Given the description of an element on the screen output the (x, y) to click on. 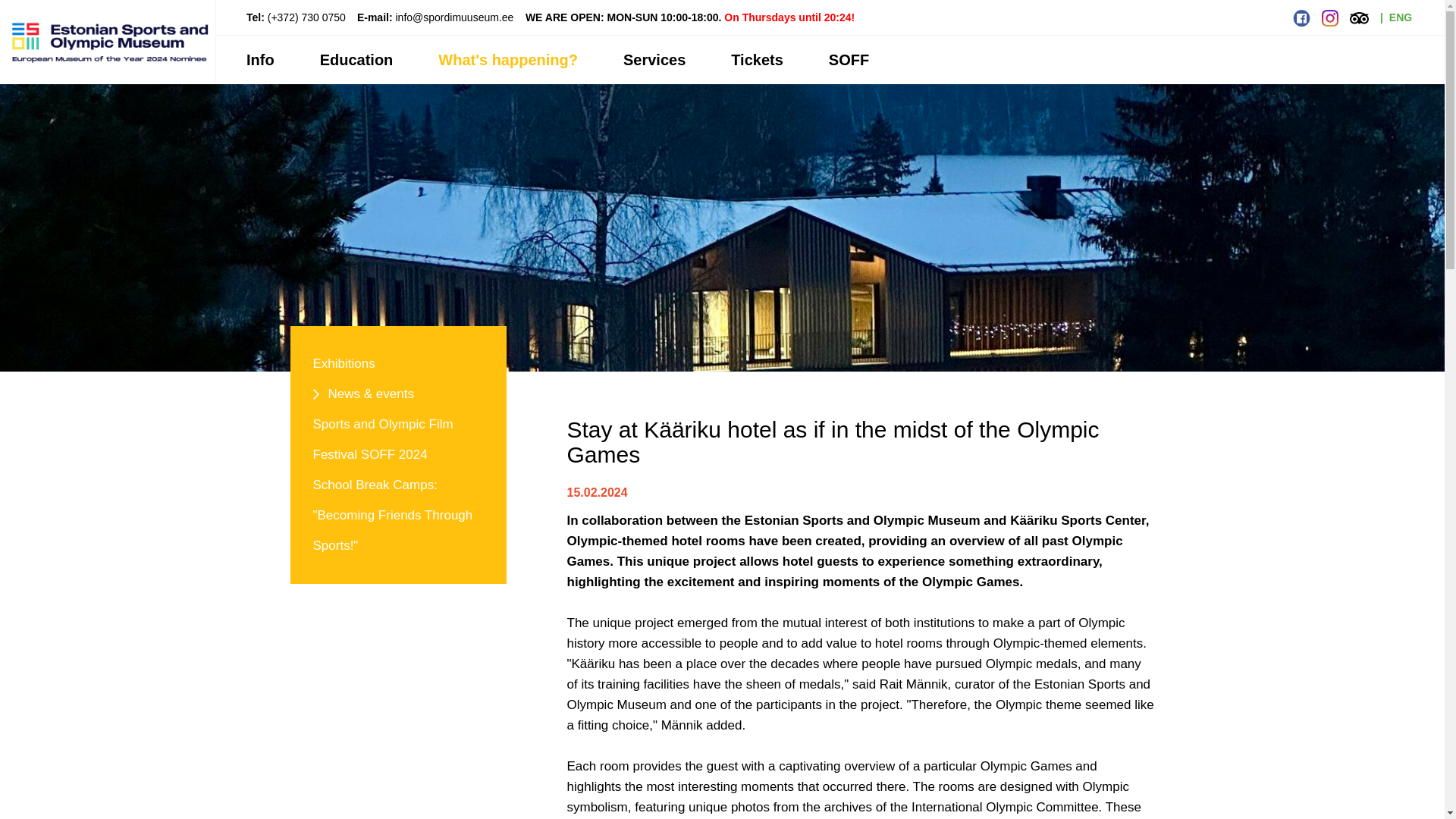
Education (356, 60)
Services (654, 60)
Tickets (756, 60)
ENG (1400, 17)
What's happening? (508, 60)
